Given the description of an element on the screen output the (x, y) to click on. 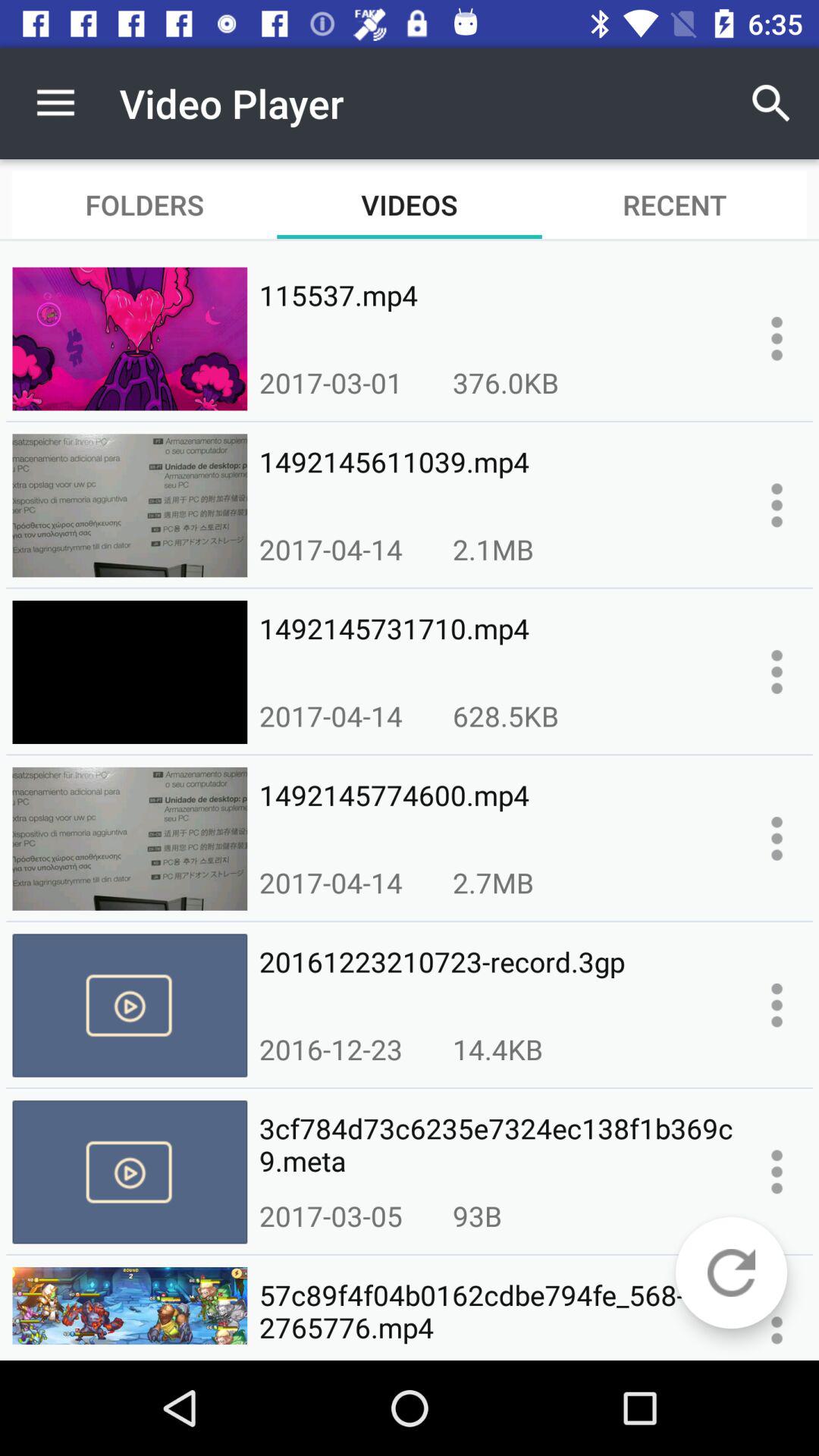
refresh (731, 1272)
